Given the description of an element on the screen output the (x, y) to click on. 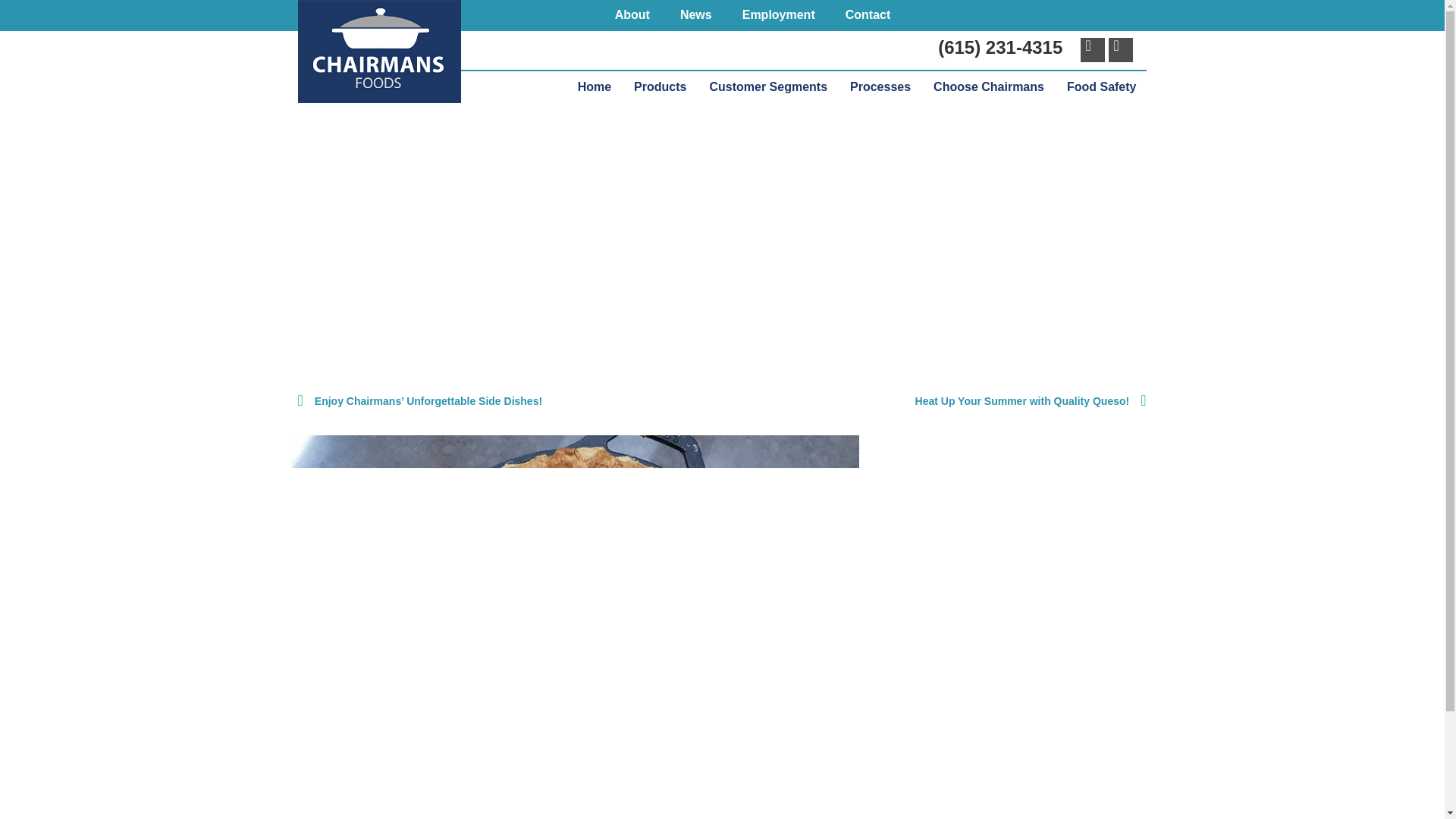
Contact (867, 15)
About (632, 15)
News (695, 15)
Choose Chairmans (988, 87)
Products (660, 87)
Home (594, 87)
Customer Segments (768, 87)
Employment (777, 15)
Processes (880, 87)
Food Safety (1102, 87)
